Given the description of an element on the screen output the (x, y) to click on. 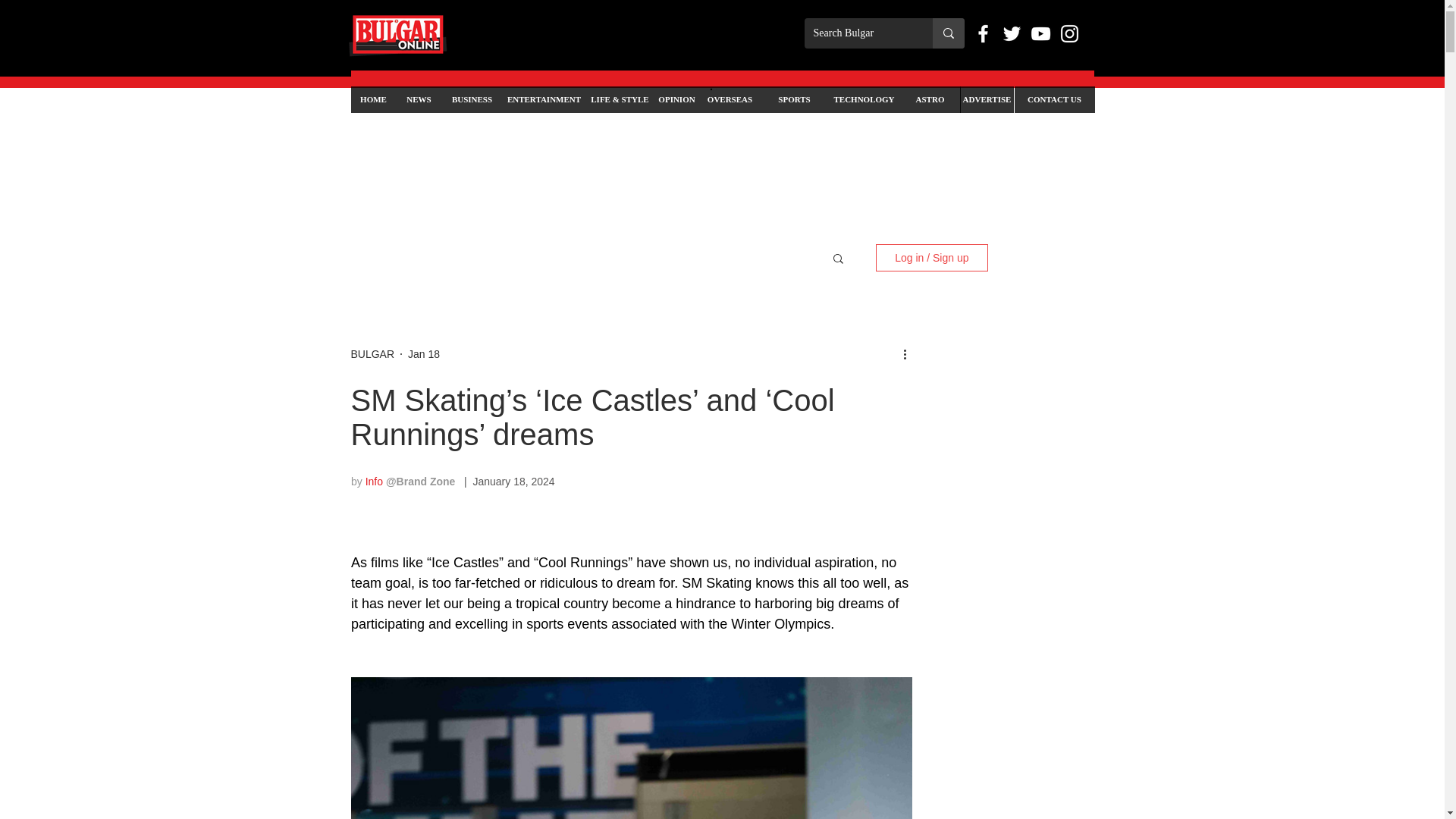
TECHNOLOGY (863, 99)
ENTERTAINMENT (543, 99)
BULGAR (372, 354)
ADVERTISE (986, 99)
HOME (373, 99)
CONTACT US (1054, 99)
OPINION (675, 99)
SPORTS (794, 99)
BUSINESS (471, 99)
OVERSEAS (729, 99)
